Given the description of an element on the screen output the (x, y) to click on. 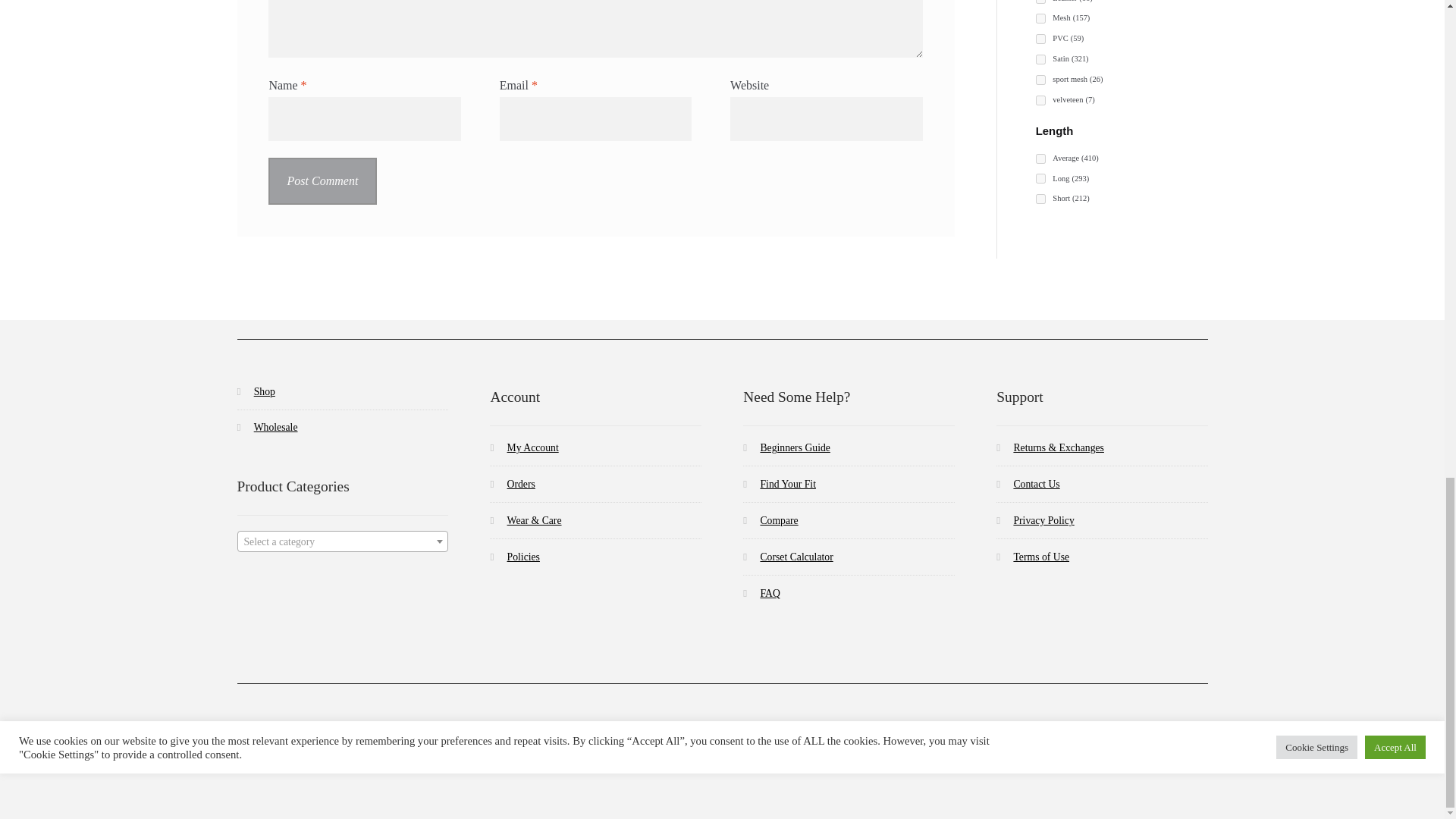
Post Comment (321, 181)
112 (1040, 2)
